Given the description of an element on the screen output the (x, y) to click on. 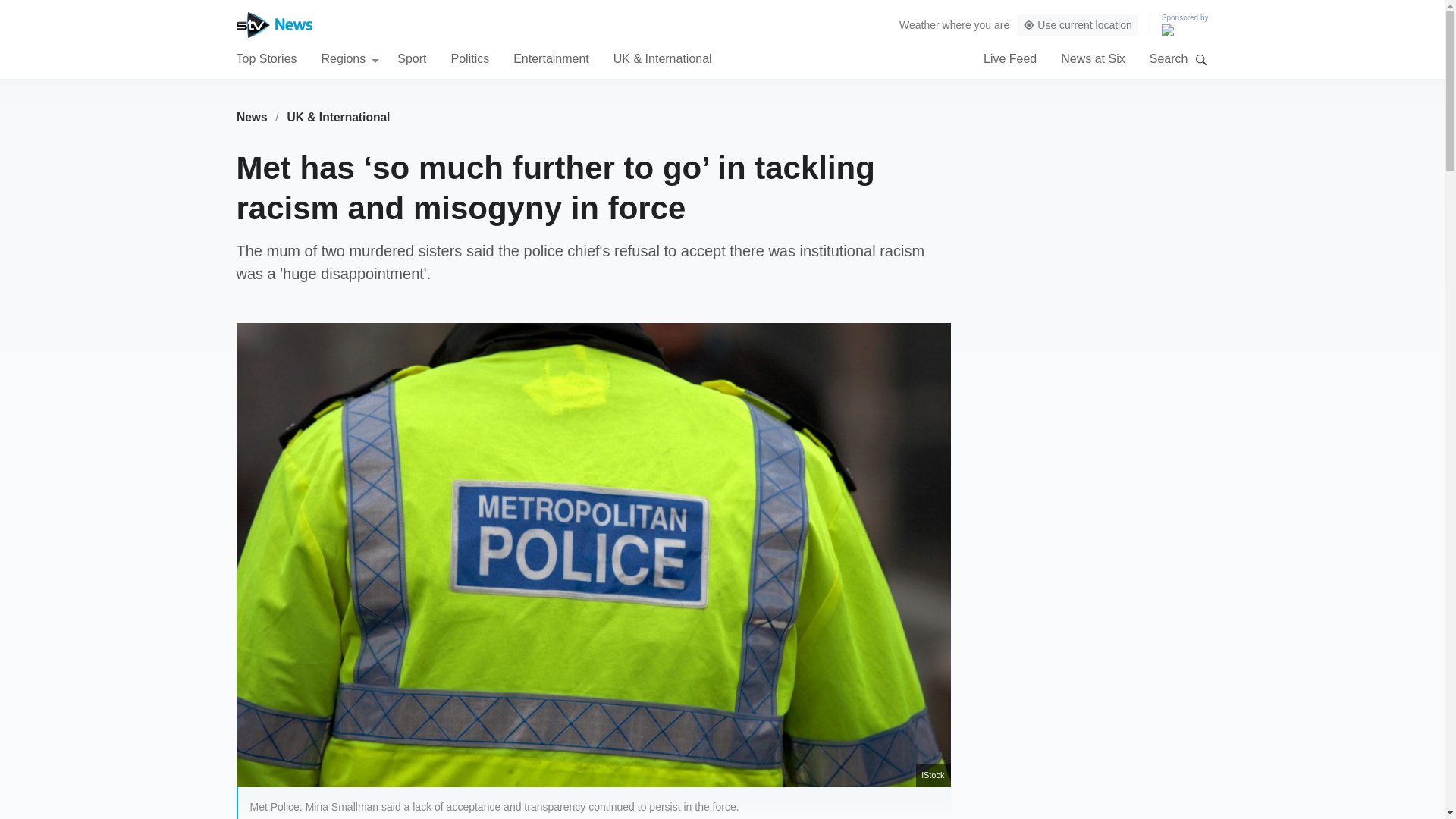
Search (1201, 59)
Entertainment (551, 57)
Live Feed (1010, 57)
Use current location (1077, 25)
Regions (350, 57)
News (252, 116)
Weather (919, 24)
News at Six (1092, 57)
Politics (469, 57)
Top Stories (266, 57)
